Given the description of an element on the screen output the (x, y) to click on. 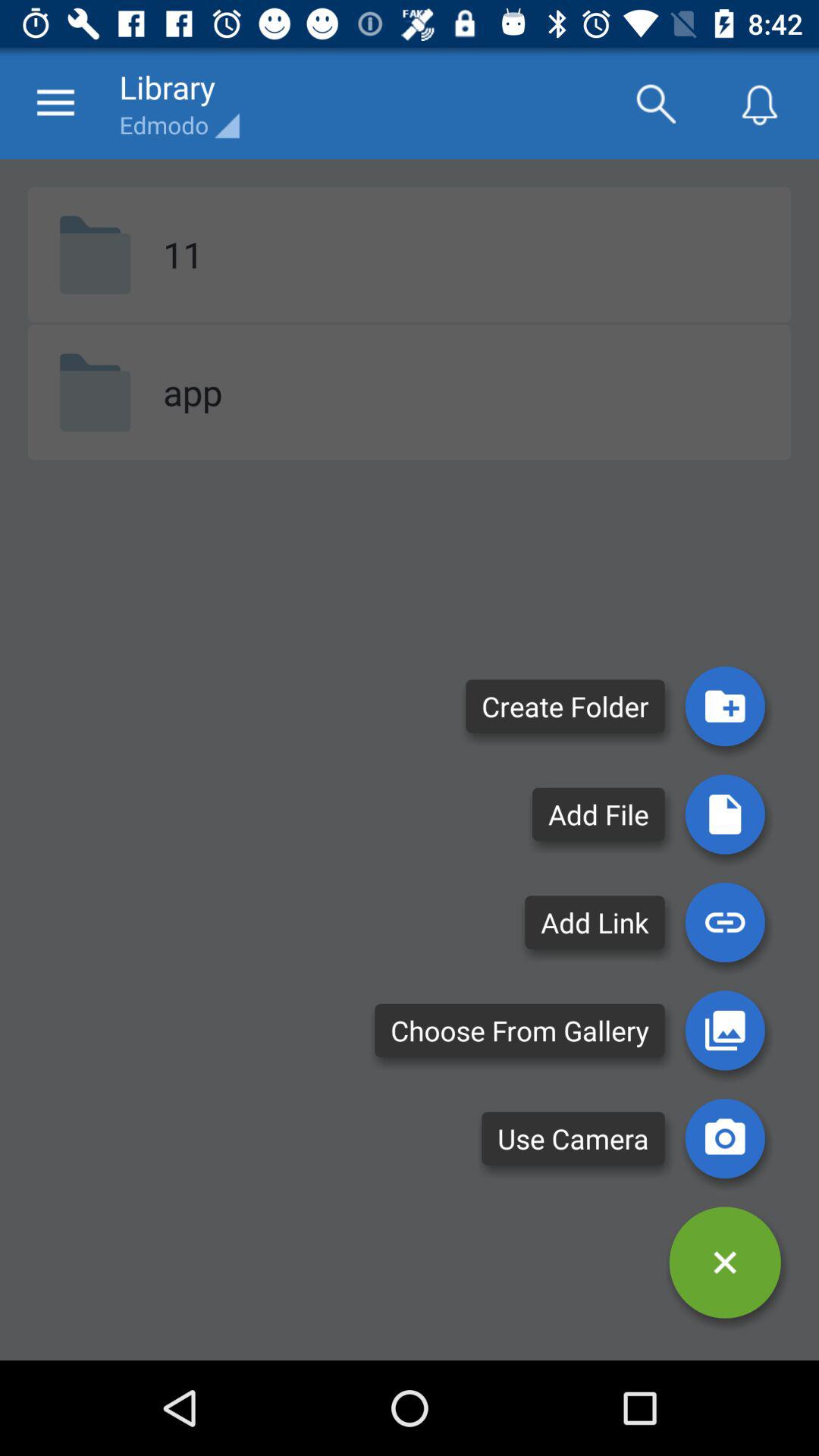
choose an image from gallery (725, 1030)
